Given the description of an element on the screen output the (x, y) to click on. 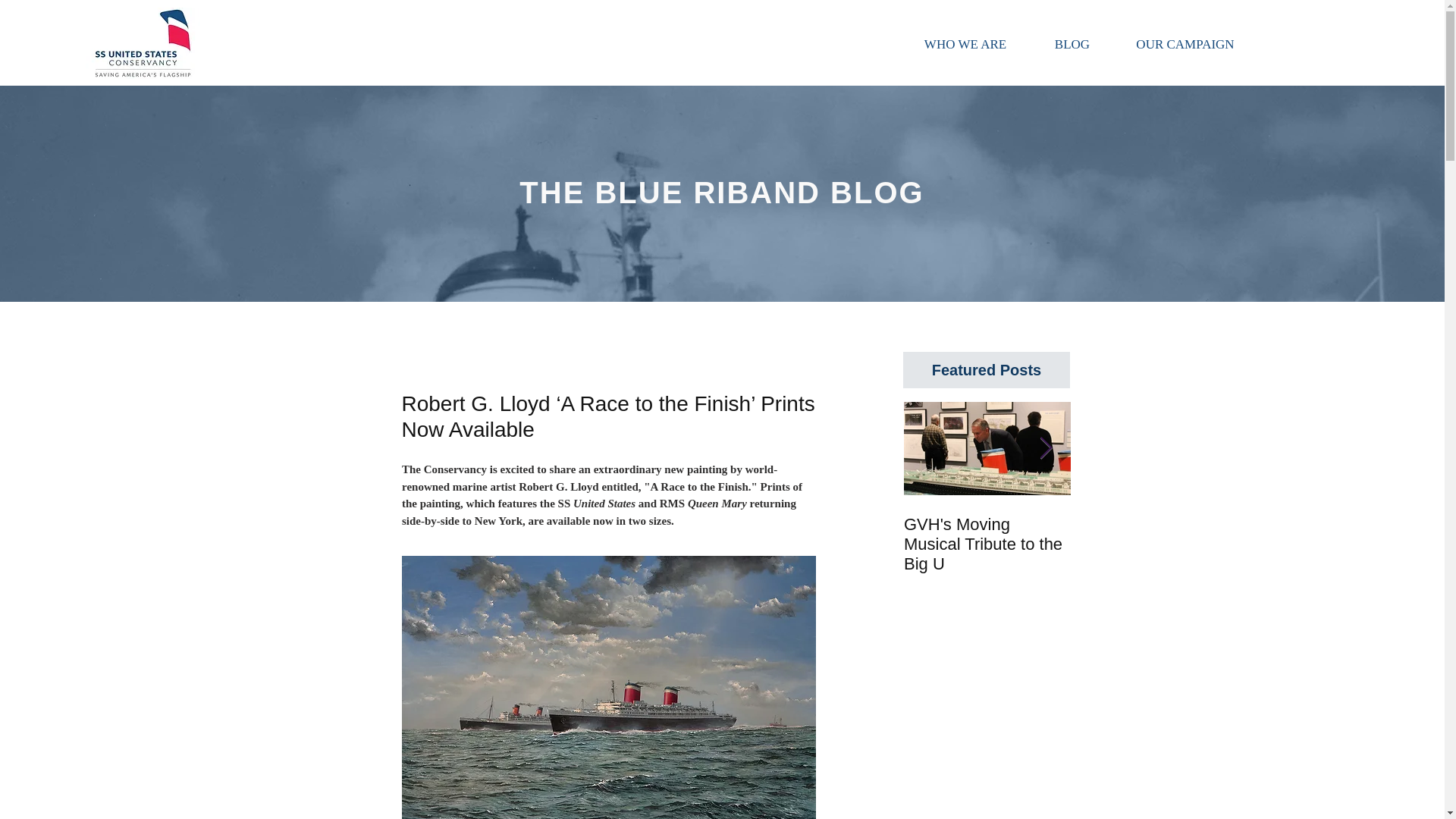
WHO WE ARE (965, 44)
GVH's Moving Musical Tribute to the Big U (987, 544)
OUR CAMPAIGN (1185, 44)
BLOG (1072, 44)
